Given the description of an element on the screen output the (x, y) to click on. 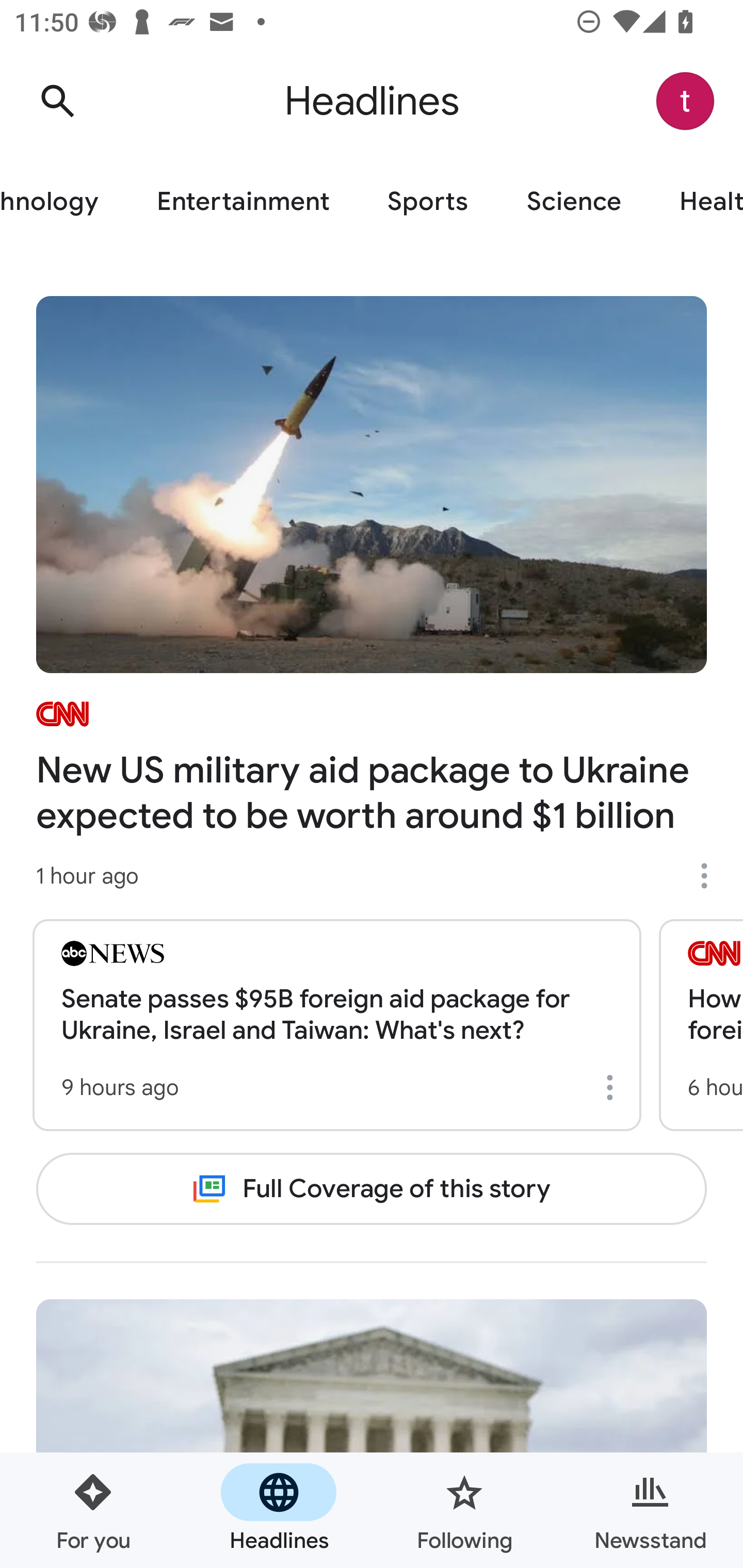
Search (57, 100)
Technology (63, 202)
Entertainment (242, 202)
Sports (427, 202)
Science (573, 202)
Health (696, 202)
More options (711, 875)
More options (613, 1086)
Full Coverage of this story (371, 1188)
For you (92, 1509)
Headlines (278, 1509)
Following (464, 1509)
Newsstand (650, 1509)
